Given the description of an element on the screen output the (x, y) to click on. 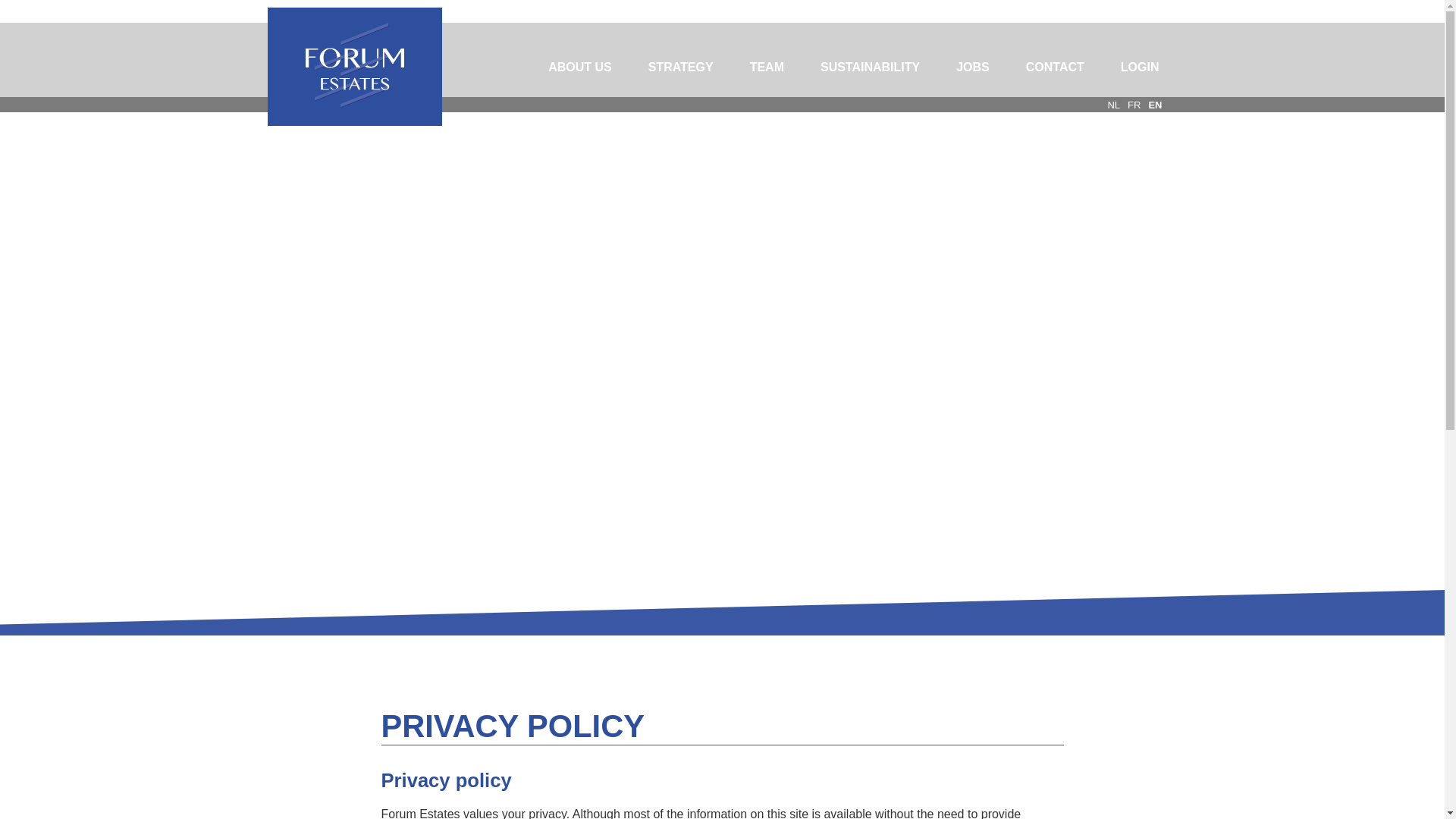
SUSTAINABILITY (869, 67)
CONTACT (1054, 67)
STRATEGY (681, 67)
NL (1112, 104)
EN (1154, 104)
JOBS (972, 67)
ABOUT US (579, 67)
FR (1133, 104)
LOGIN (1139, 67)
English (1154, 104)
